Given the description of an element on the screen output the (x, y) to click on. 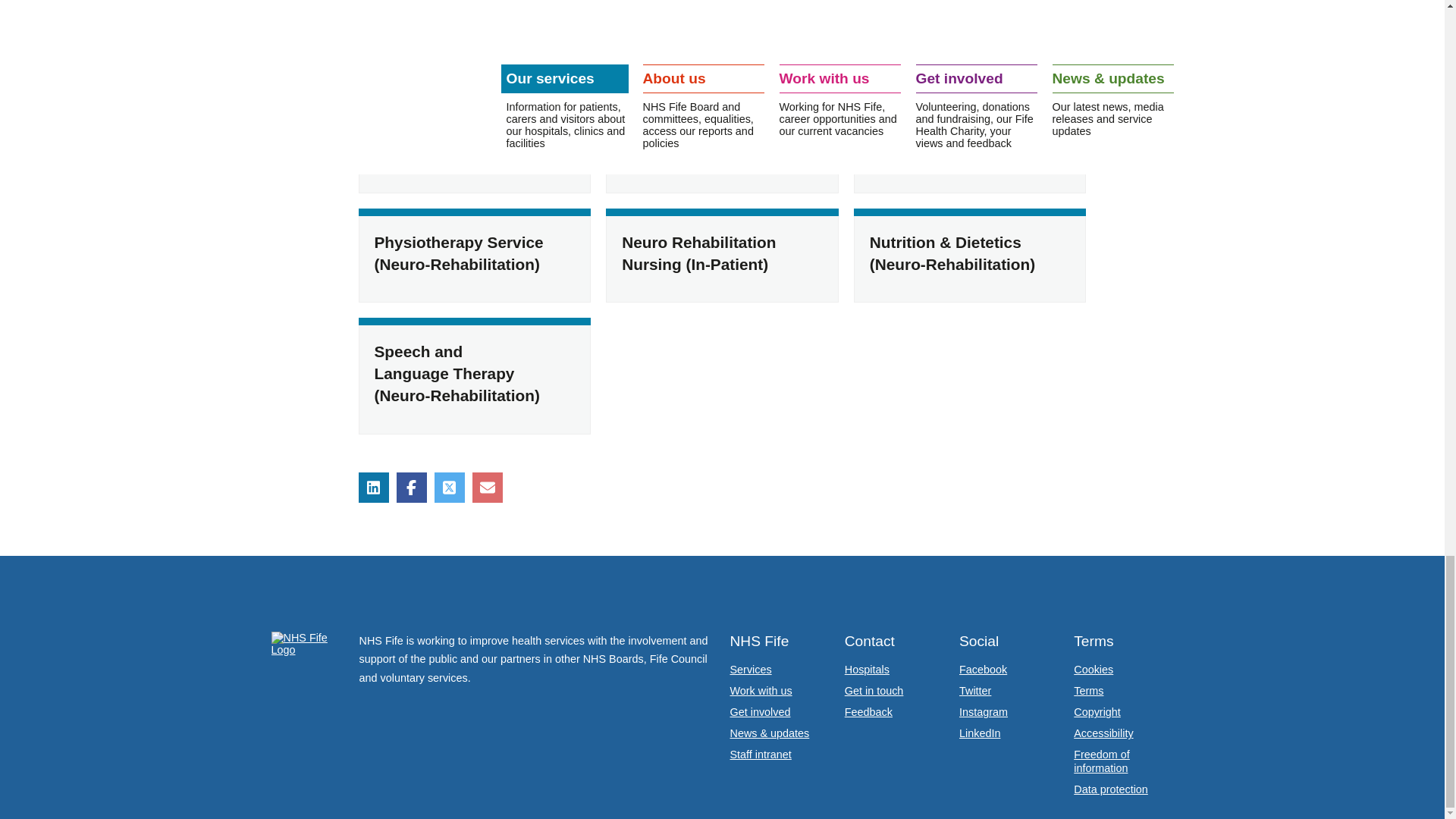
Facebook (983, 669)
Feedback (868, 711)
Hospitals (866, 669)
Work with us (760, 690)
Staff intranet (759, 754)
Instagram (983, 711)
Get involved (759, 711)
Get in touch (874, 690)
Twitter (975, 690)
Services (750, 669)
